Given the description of an element on the screen output the (x, y) to click on. 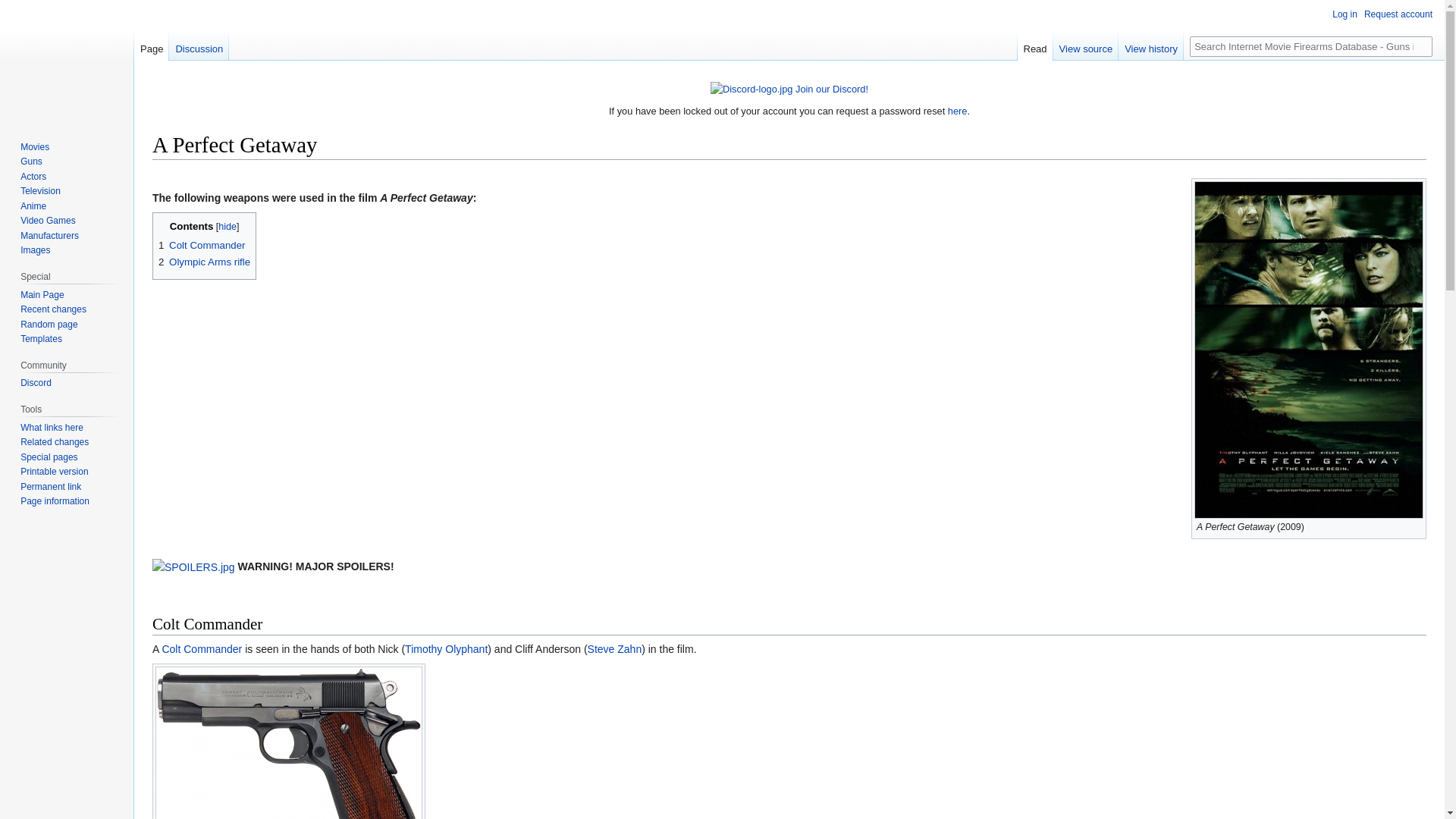
Timothy Olyphant (445, 648)
Enlarge (1415, 524)
Timothy Olyphant (445, 648)
Log in (1344, 14)
M1911A1 (201, 648)
2 Olympic Arms rifle (204, 261)
Steve Zahn (615, 648)
Join our Discord! (830, 89)
Read (1034, 45)
